Given the description of an element on the screen output the (x, y) to click on. 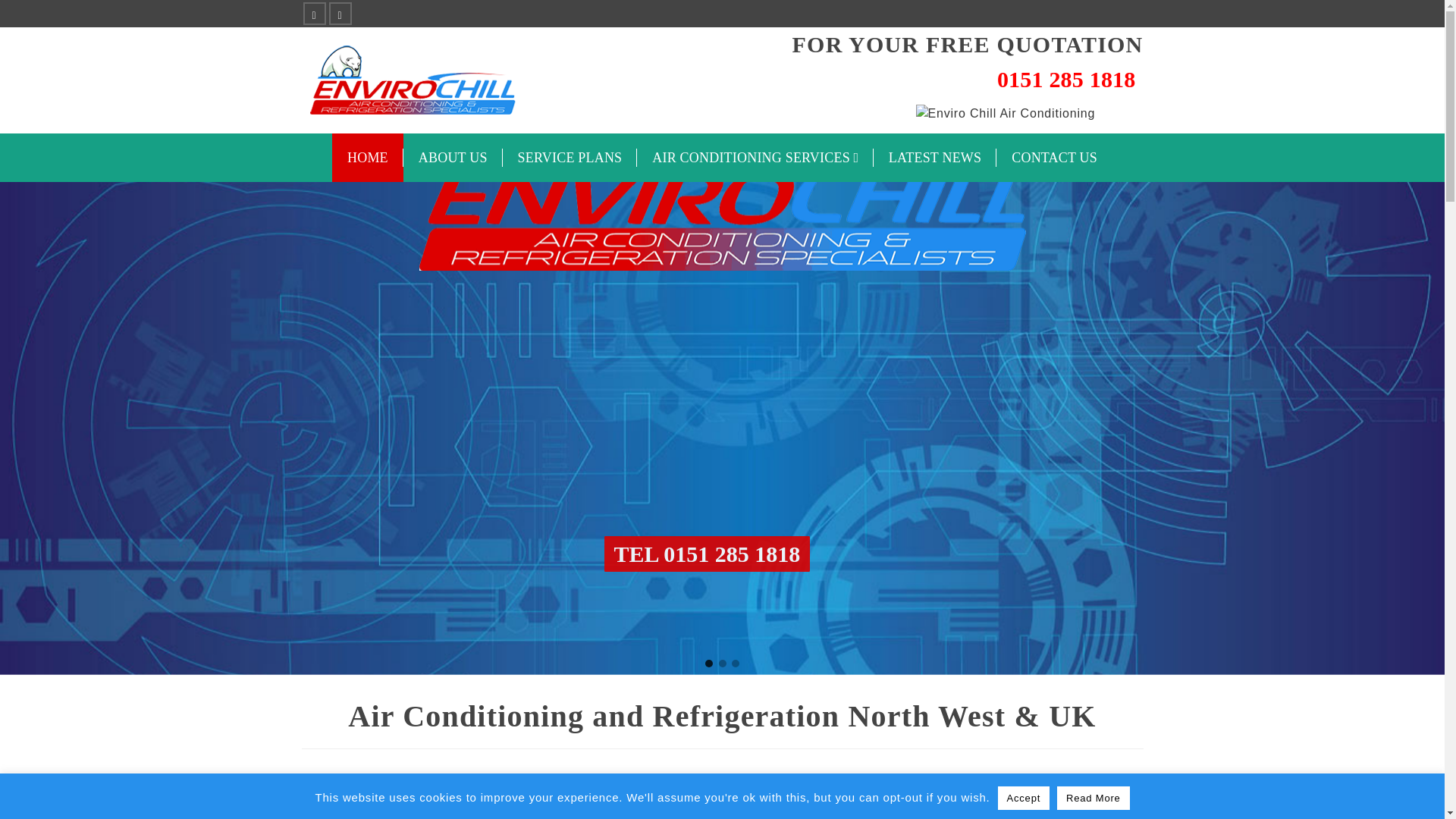
ABOUT US (452, 157)
HOME (367, 157)
AIR CONDITIONING SERVICES (755, 157)
LATEST NEWS (934, 157)
0151 285 1818 (967, 79)
SERVICE PLANS (569, 157)
CONTACT US (1053, 157)
